Given the description of an element on the screen output the (x, y) to click on. 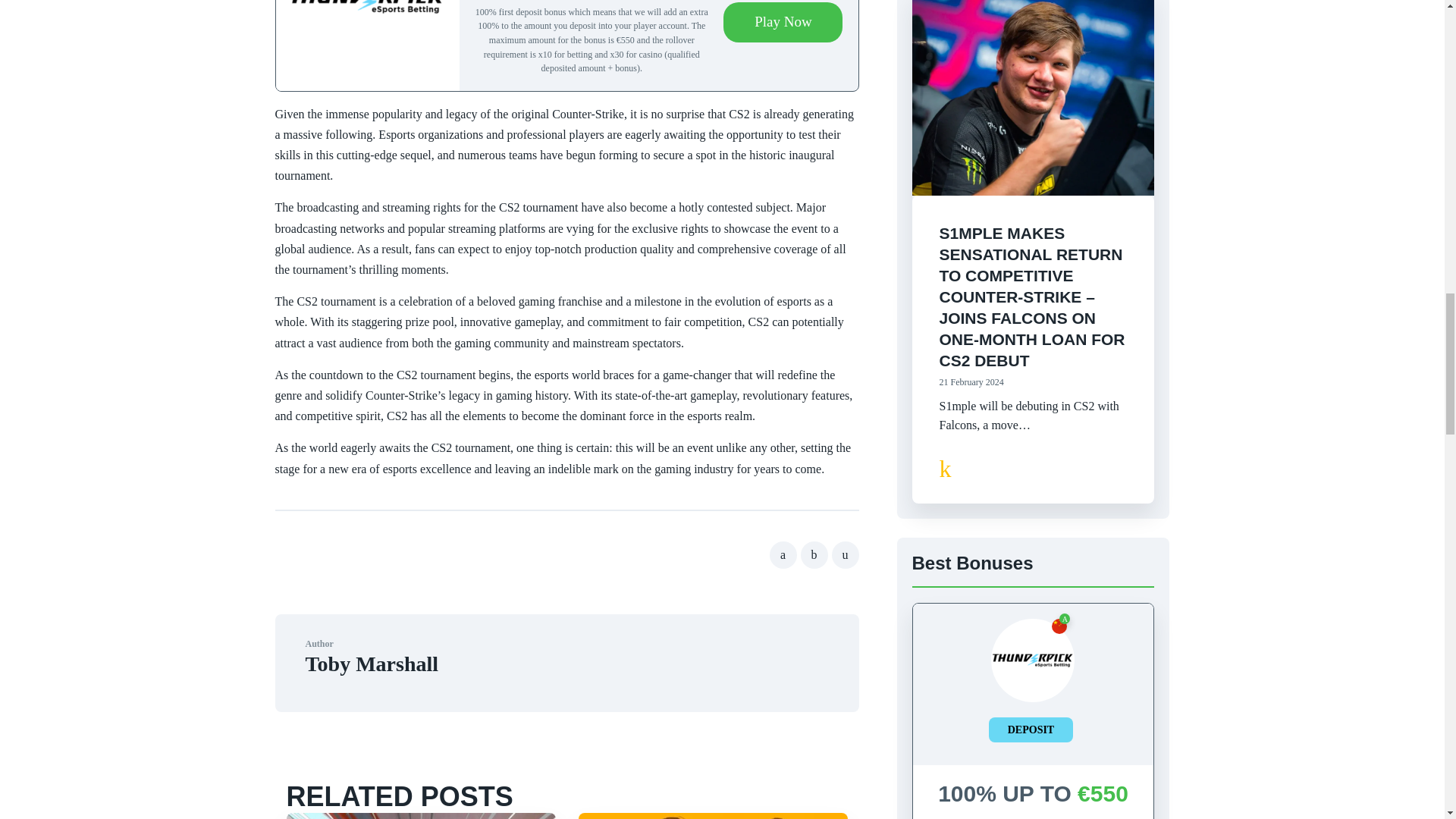
Share on Twitter (814, 554)
This Site Review is available in China (1059, 626)
Share on Facebook (782, 554)
Share by email (845, 554)
